Given the description of an element on the screen output the (x, y) to click on. 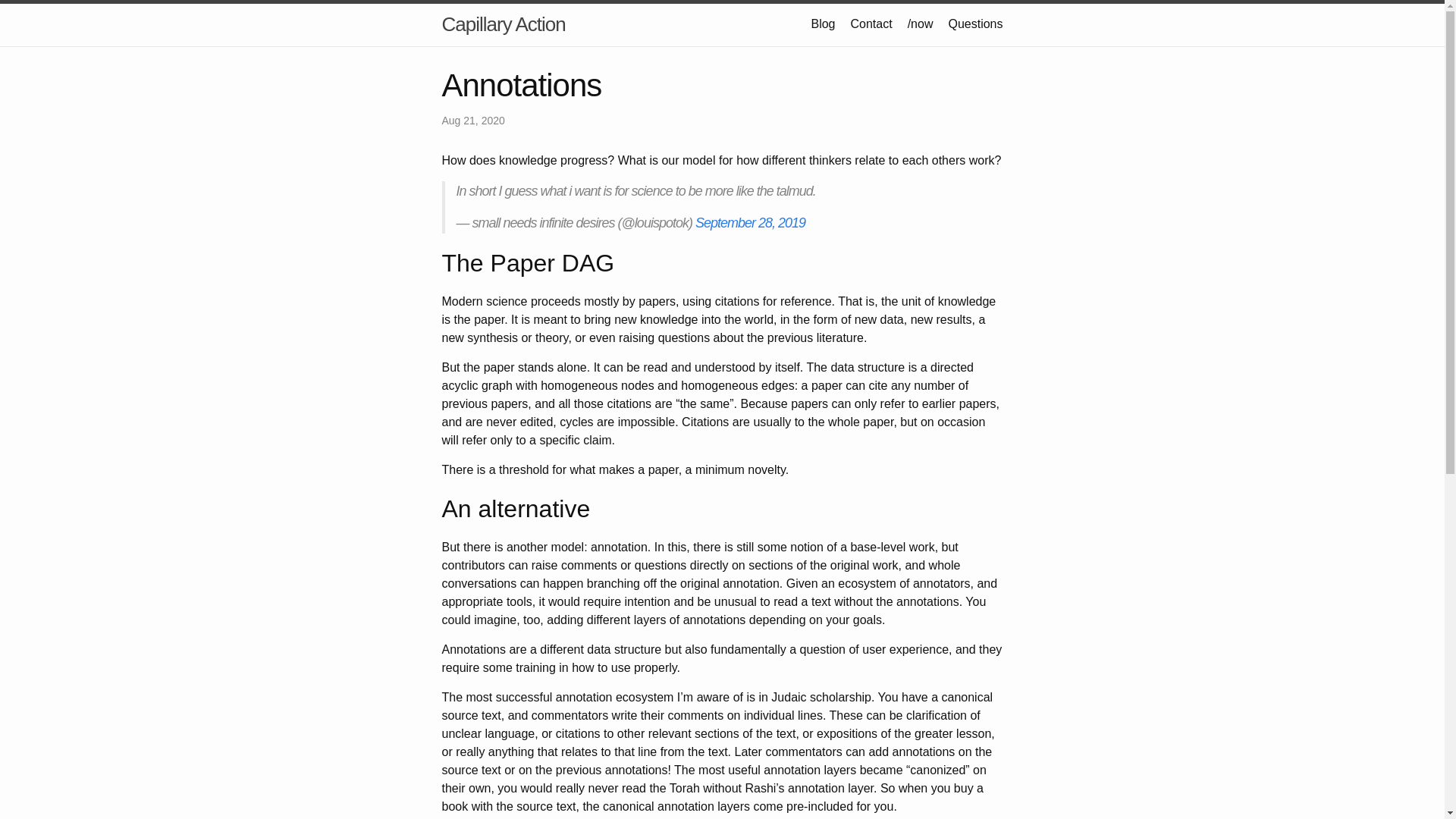
Capillary Action (502, 24)
September 28, 2019 (750, 222)
Blog (822, 23)
Questions (975, 23)
Contact (871, 23)
